Given the description of an element on the screen output the (x, y) to click on. 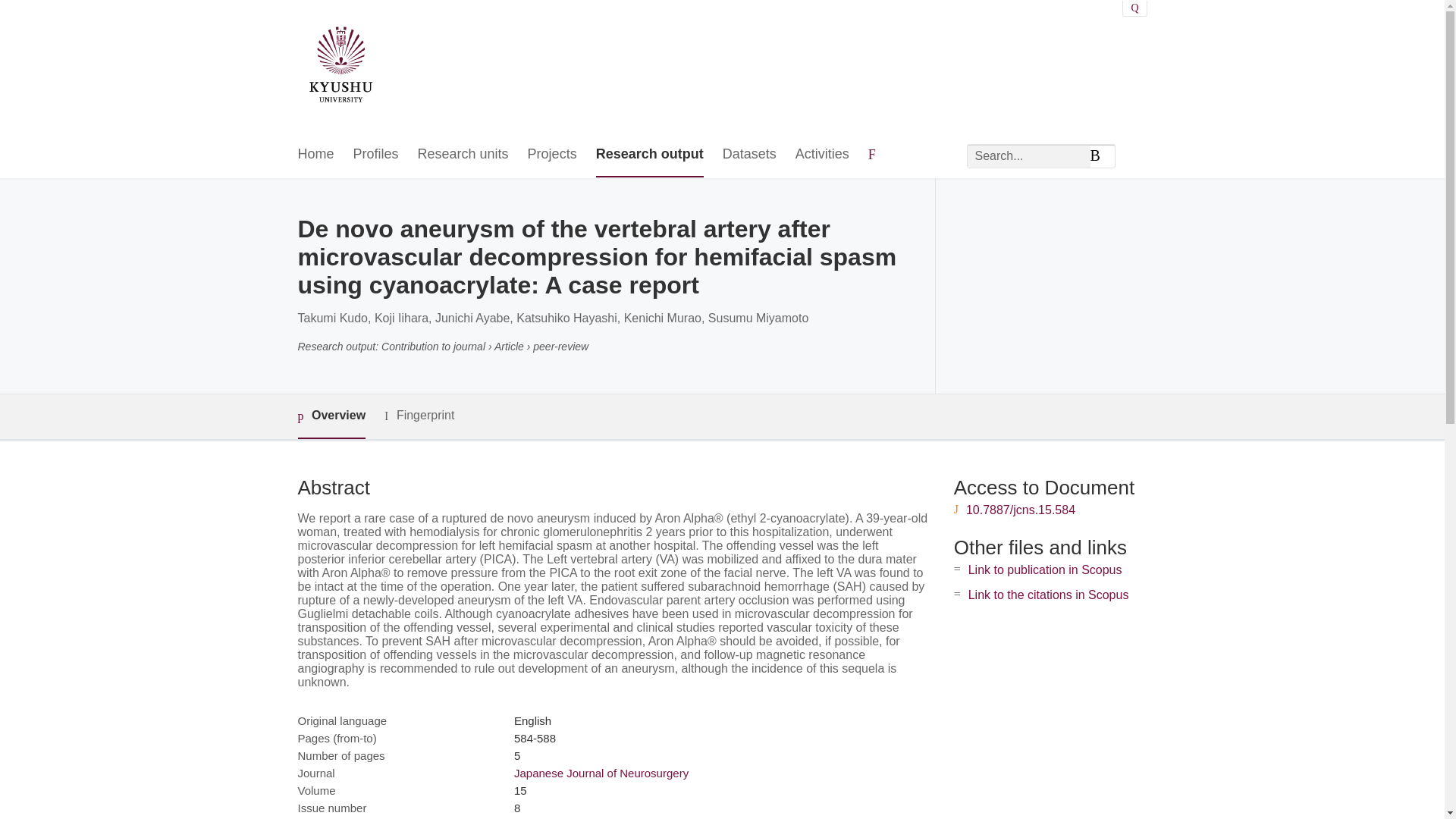
Research output (649, 154)
Fingerprint (419, 415)
Profiles (375, 154)
Overview (331, 415)
Japanese Journal of Neurosurgery (600, 772)
Projects (551, 154)
Research units (462, 154)
Link to the citations in Scopus (1048, 594)
Datasets (749, 154)
Link to publication in Scopus (1045, 569)
Activities (821, 154)
